Given the description of an element on the screen output the (x, y) to click on. 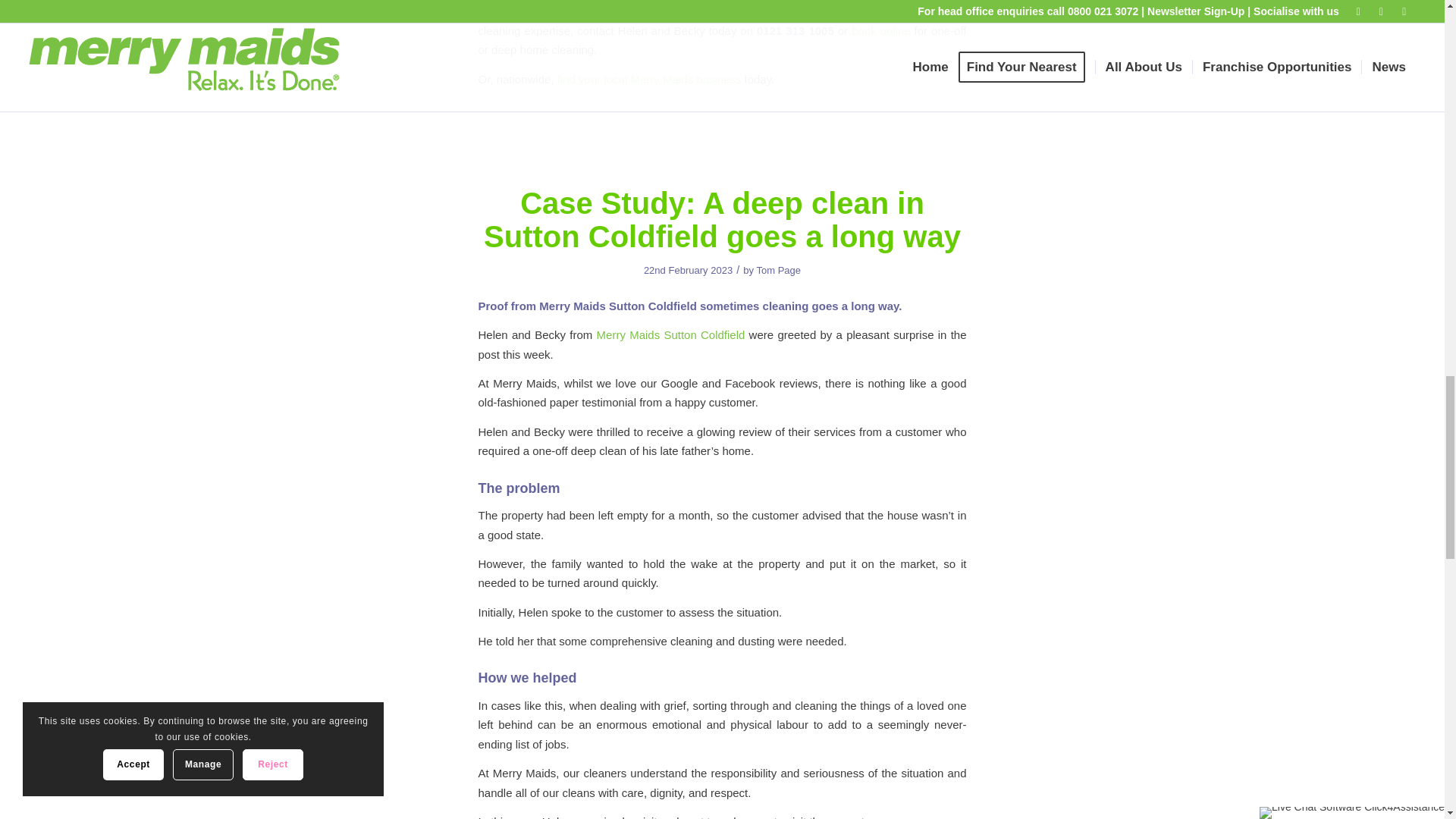
Posts by Tom Page (777, 270)
